Given the description of an element on the screen output the (x, y) to click on. 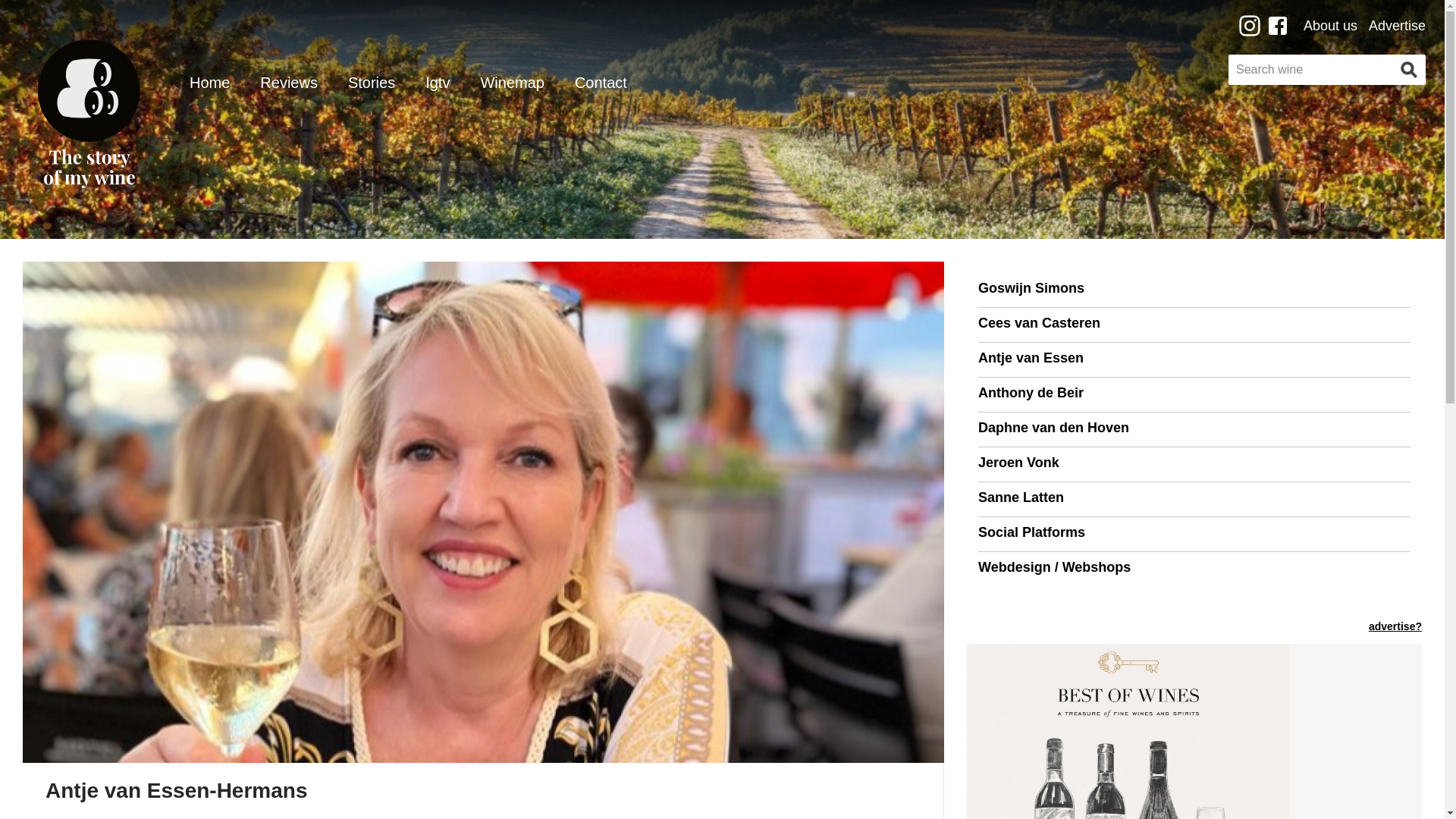
Home (209, 87)
About us (1329, 24)
Reviews (288, 87)
Winemap (511, 87)
Stories (370, 87)
wine barrels (88, 90)
The Story of my wine (89, 168)
Advertise (1396, 24)
Contact (601, 87)
Best of Wines - Discover now! (1128, 731)
